Given the description of an element on the screen output the (x, y) to click on. 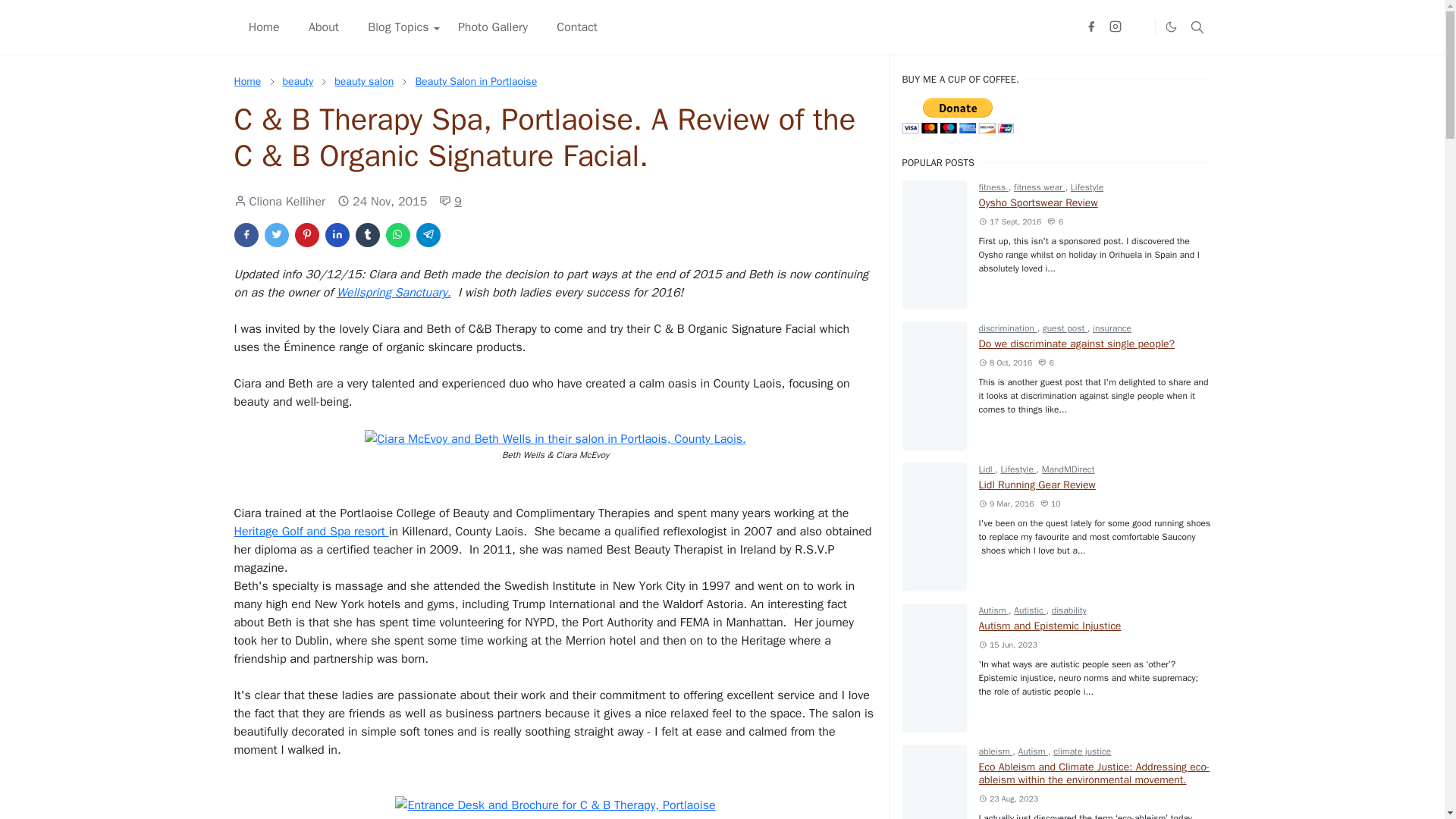
Facebook Share (244, 234)
Beauty Salon in Portlaoise (475, 81)
Beauty Salon in Portlaoise (475, 81)
9 (450, 201)
Home (246, 81)
Share to telegram (426, 234)
Home (246, 81)
Tweet This (275, 234)
About (323, 27)
Linkedin Share (336, 234)
